Given the description of an element on the screen output the (x, y) to click on. 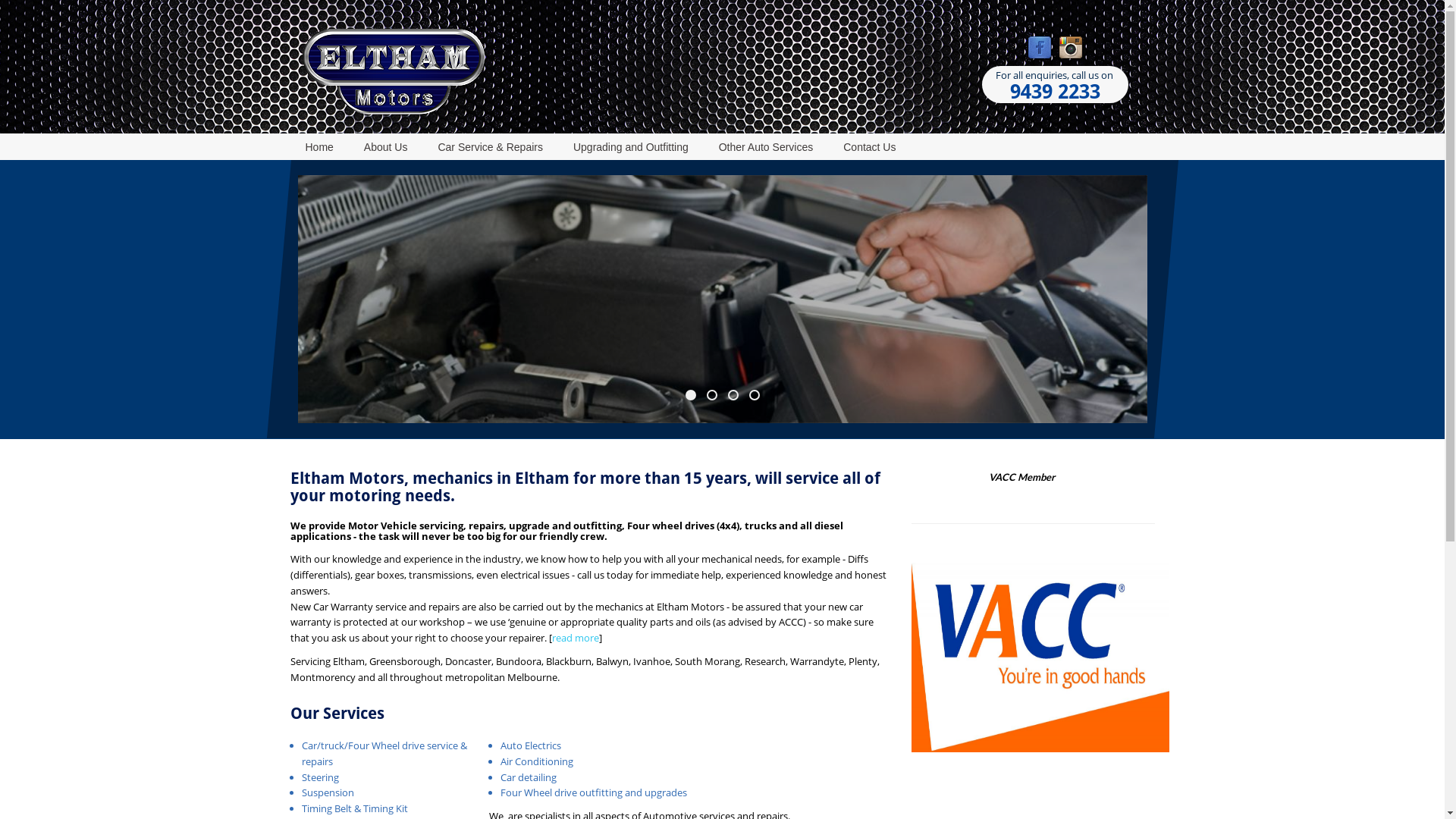
Upgrading and Outfitting Element type: text (630, 148)
Instagram Element type: hover (1070, 46)
Car Service & Repairs Element type: text (490, 148)
About Us Element type: text (385, 148)
Other Auto Services Element type: text (765, 148)
9439 2233 Element type: text (1055, 92)
1 Element type: text (690, 394)
Contact Us Element type: text (861, 148)
Home Element type: text (318, 148)
read more Element type: text (575, 637)
3 Element type: text (733, 394)
Facebook Element type: hover (1039, 46)
2 Element type: text (711, 394)
4 Element type: text (754, 394)
